Given the description of an element on the screen output the (x, y) to click on. 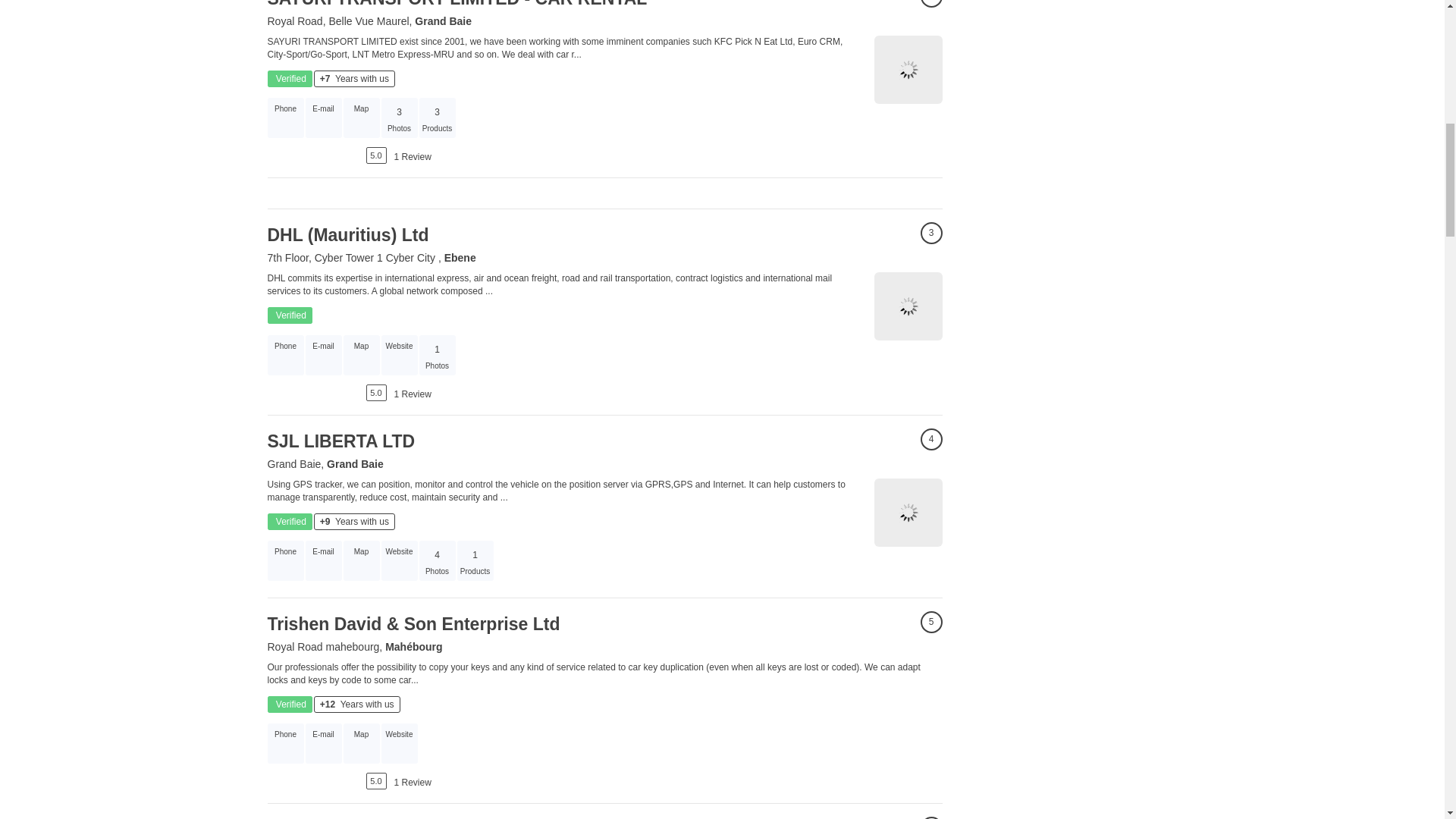
Companies in Grand Baie (442, 21)
SAYURI TRANSPORT LIMITED - CAR RENTAL Business Page (907, 70)
SAYURI TRANSPORT LIMITED - CAR RENTAL (456, 4)
Grand Baie (442, 21)
SAYURI TRANSPORT LIMITED - CAR RENTAL (456, 4)
